Given the description of an element on the screen output the (x, y) to click on. 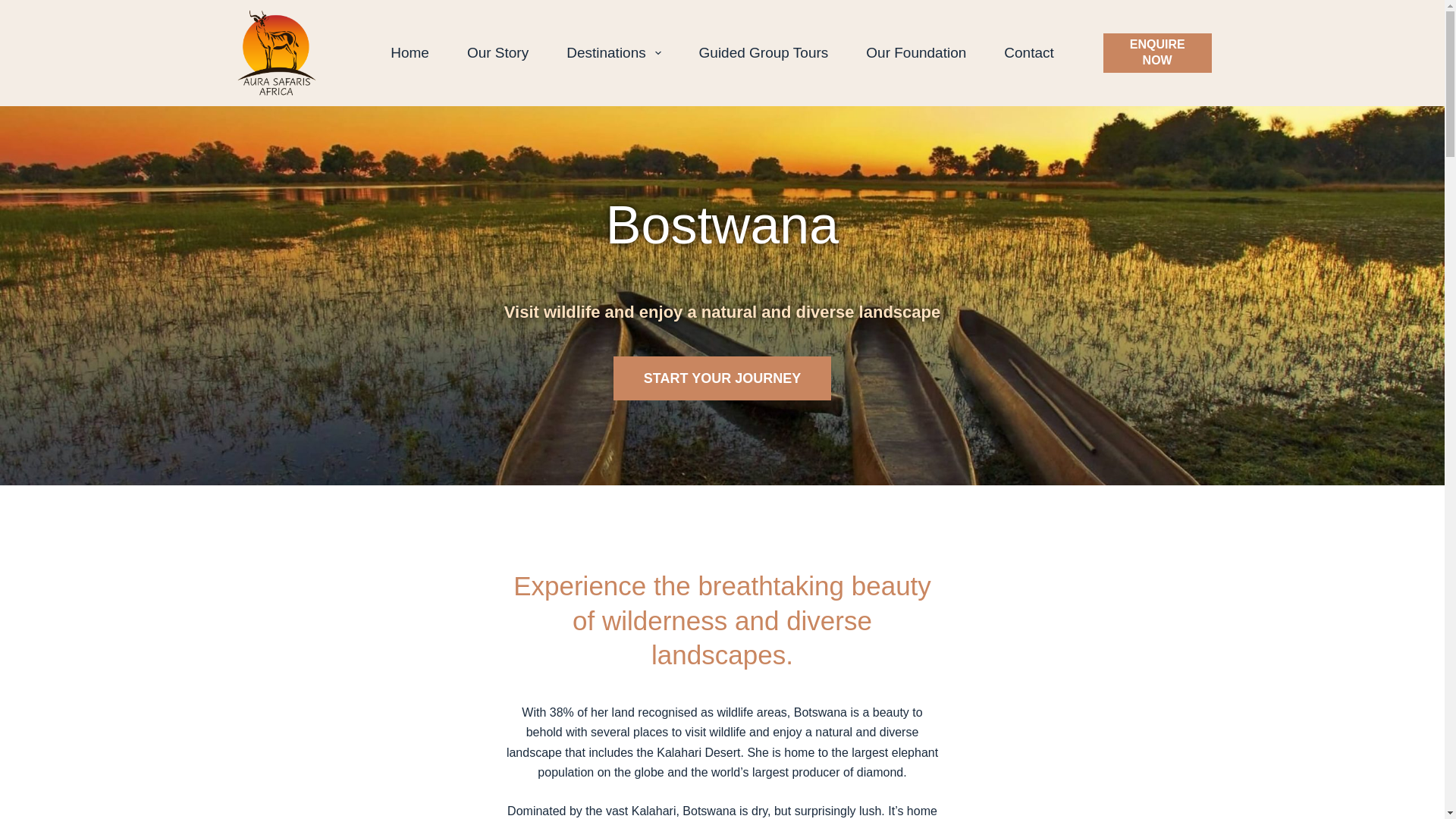
Our Story (497, 53)
Skip to content (15, 7)
Destinations (613, 53)
